Given the description of an element on the screen output the (x, y) to click on. 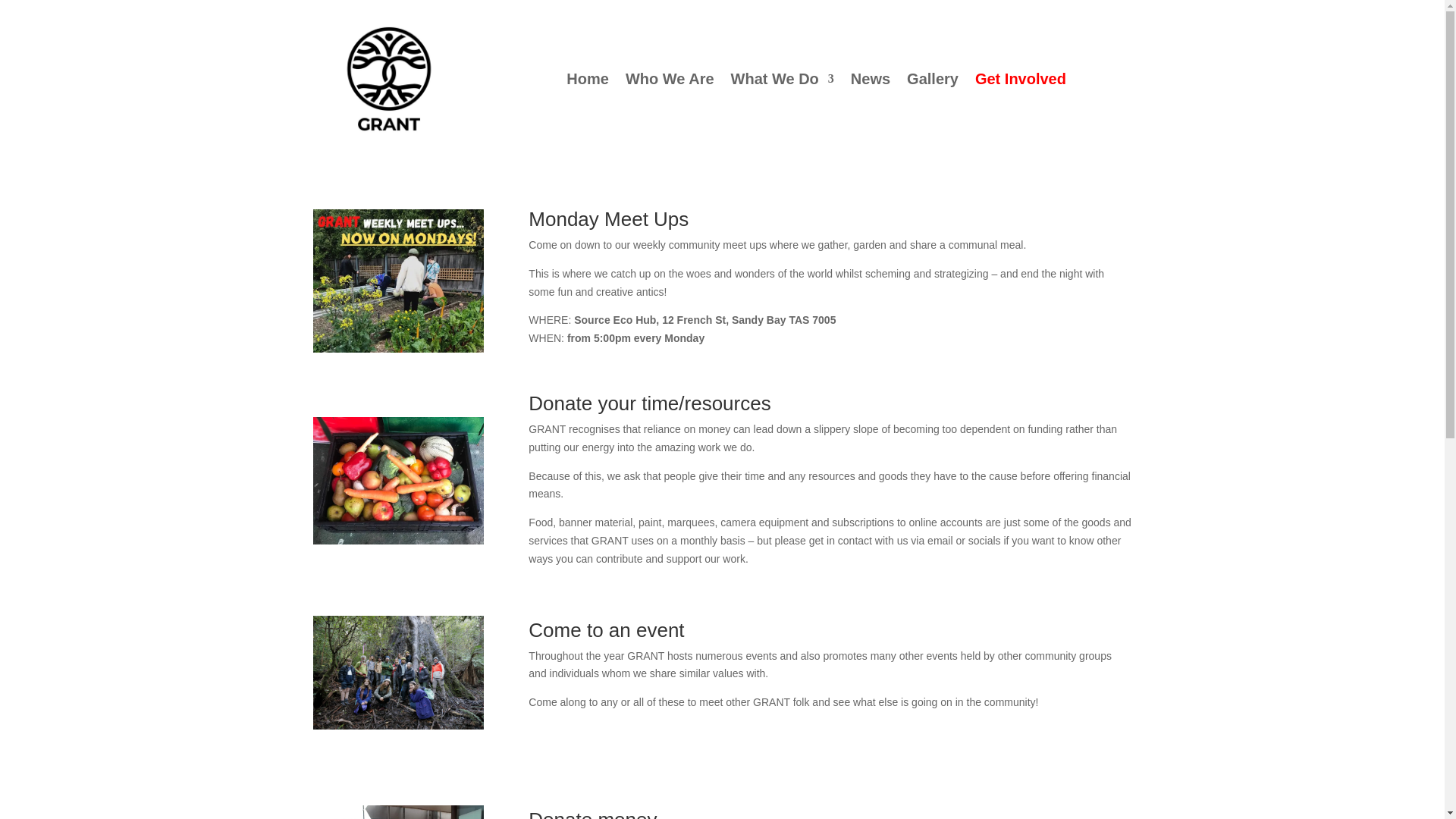
signal-2021-09-10-09-46-58-054-1 (398, 480)
aaa garden (398, 280)
